Given the description of an element on the screen output the (x, y) to click on. 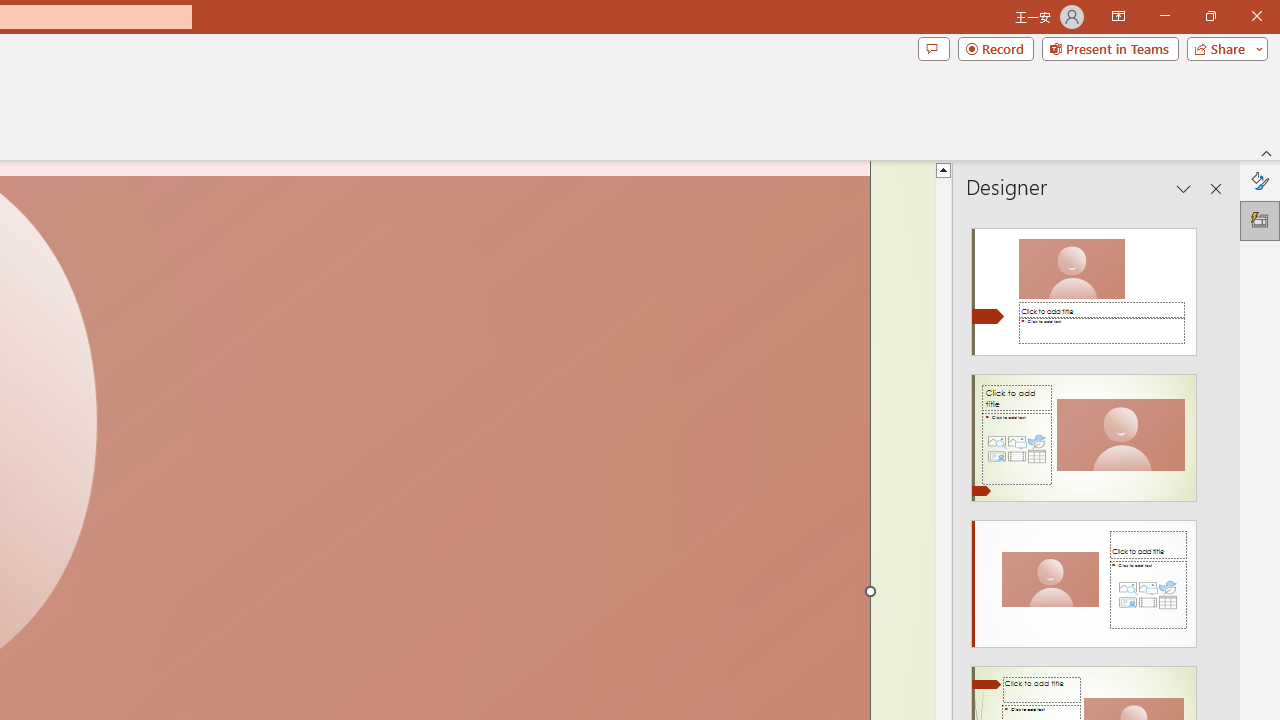
Recommended Design: Design Idea (1083, 286)
